Given the description of an element on the screen output the (x, y) to click on. 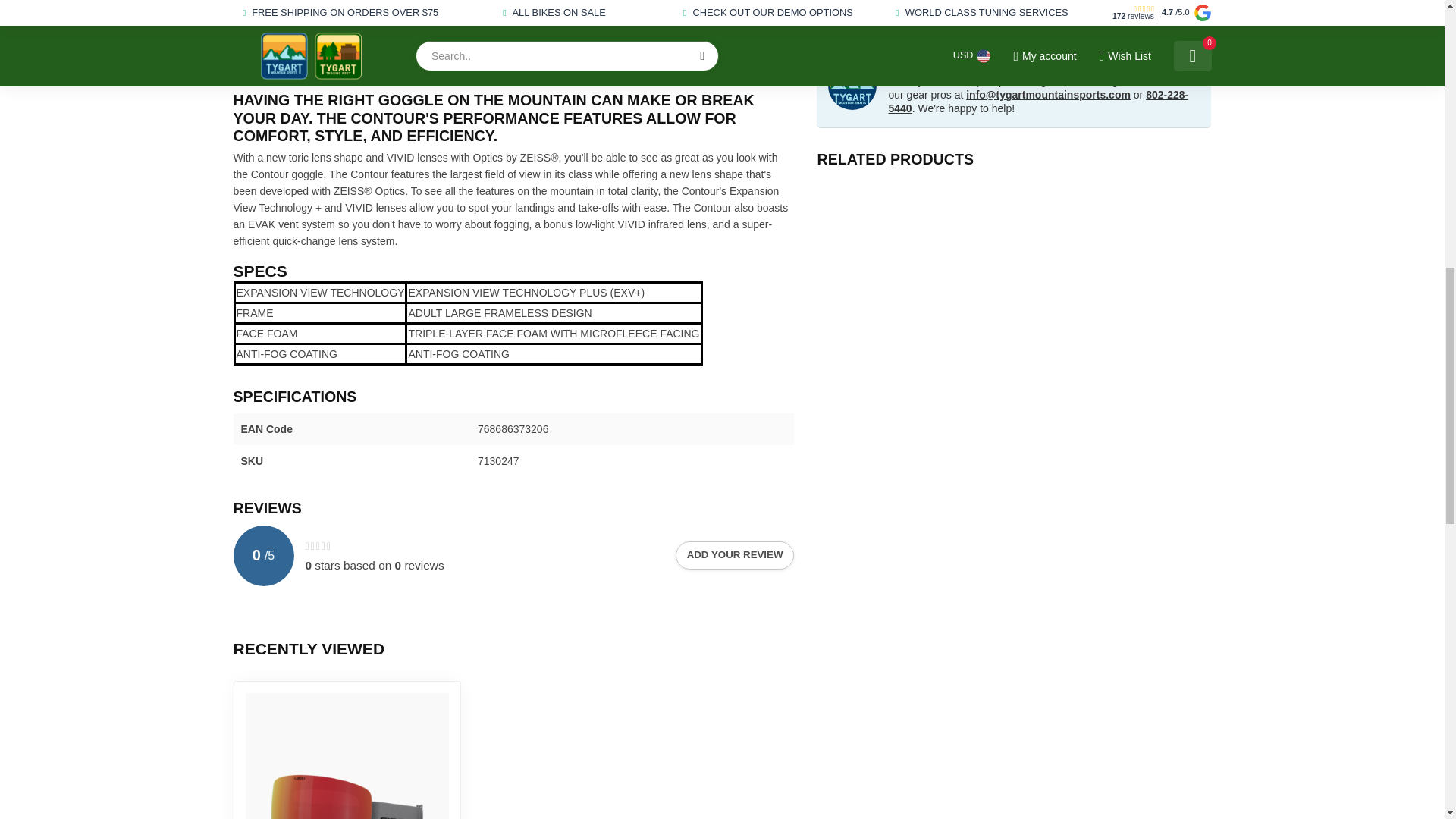
Giro Giro Contour Goggle (347, 755)
